Given the description of an element on the screen output the (x, y) to click on. 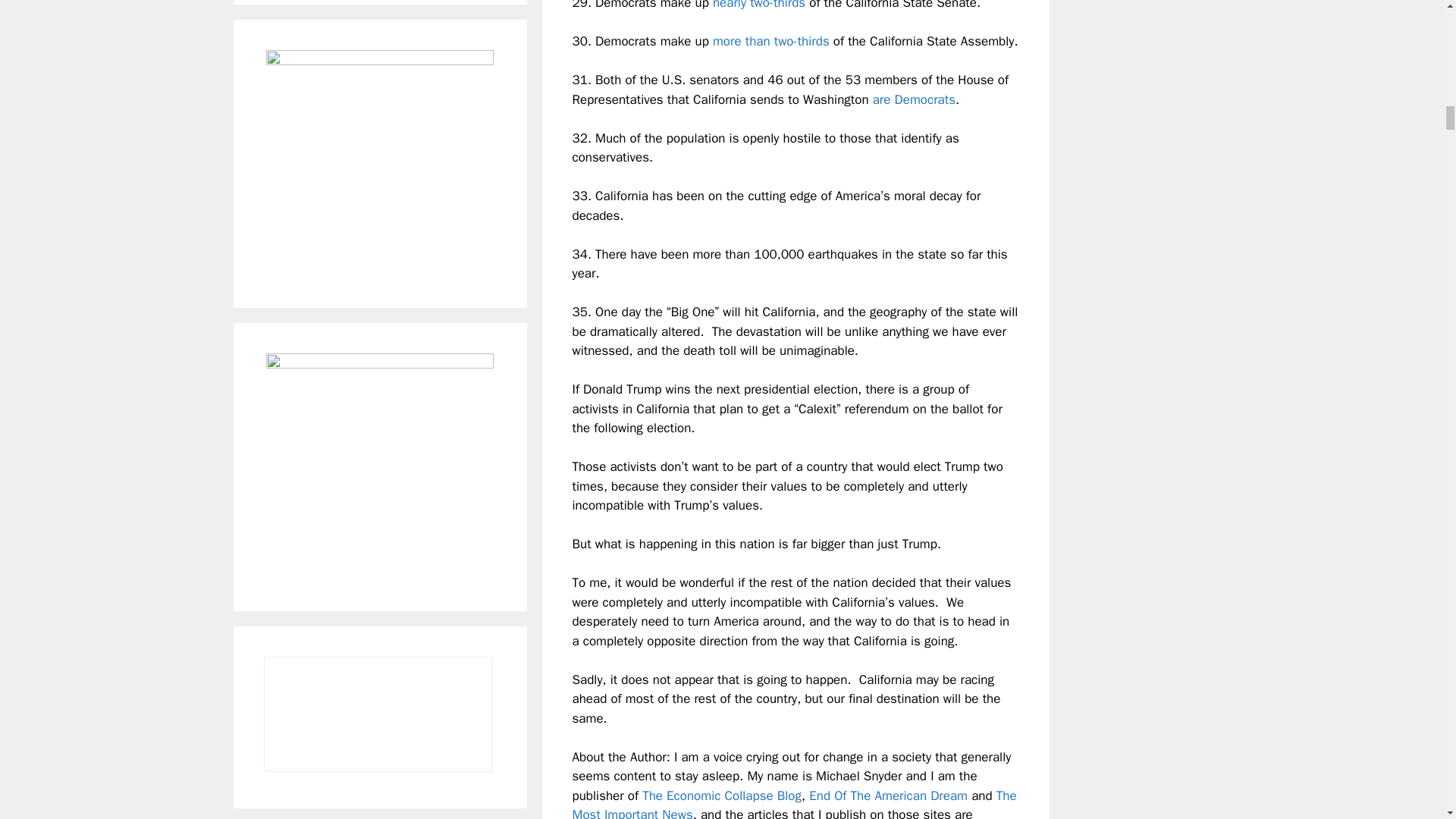
The Most Important News (794, 803)
nearly two-thirds (759, 5)
The Economic Collapse Blog (722, 795)
more than two-thirds (771, 41)
End Of The American Dream (888, 795)
are Democrats (913, 99)
